Given the description of an element on the screen output the (x, y) to click on. 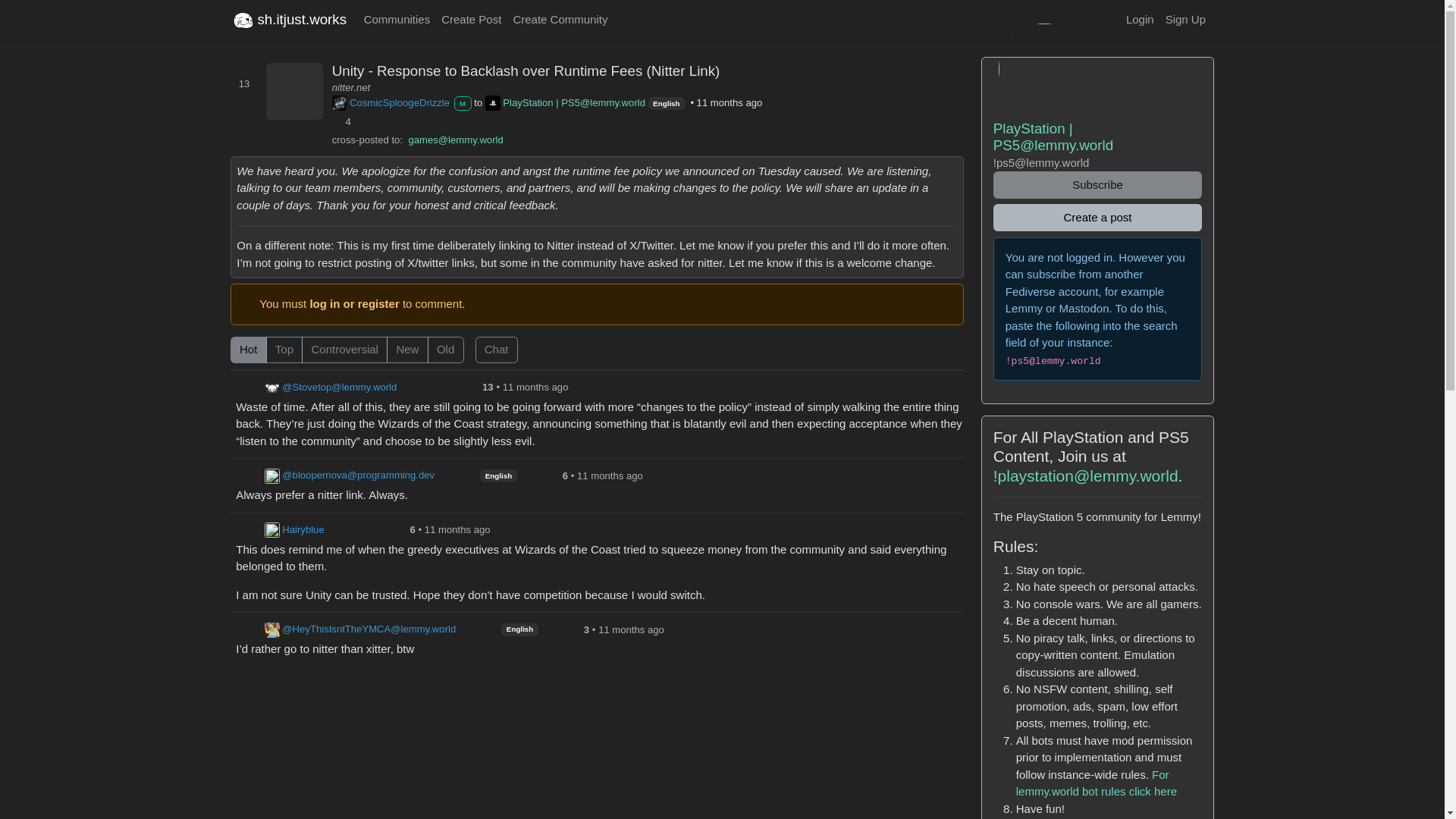
Create Community (559, 20)
log in or register (353, 303)
CosmicSploogeDrizzle (390, 102)
Create Community (559, 20)
Sign Up (1184, 20)
Communities (396, 20)
1 (480, 341)
4 (344, 121)
New (235, 341)
nitter.net (351, 87)
Login (1138, 20)
Old (235, 341)
Communities (396, 20)
Controversial (235, 341)
Sign Up (1184, 20)
